Given the description of an element on the screen output the (x, y) to click on. 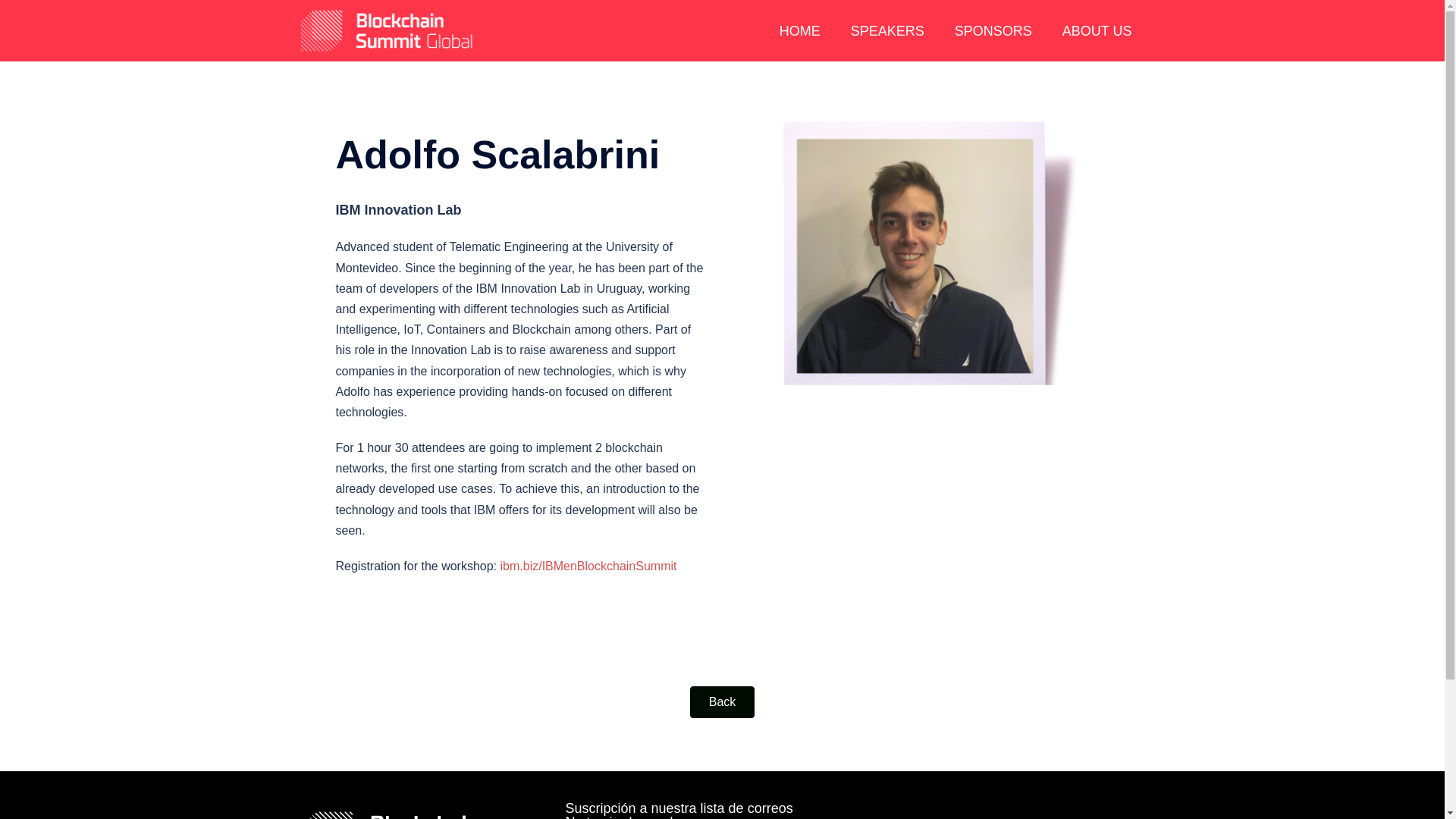
Back (722, 702)
SPONSORS (992, 30)
SPEAKERS (887, 30)
ABOUT US (1096, 30)
HOME (799, 30)
